Given the description of an element on the screen output the (x, y) to click on. 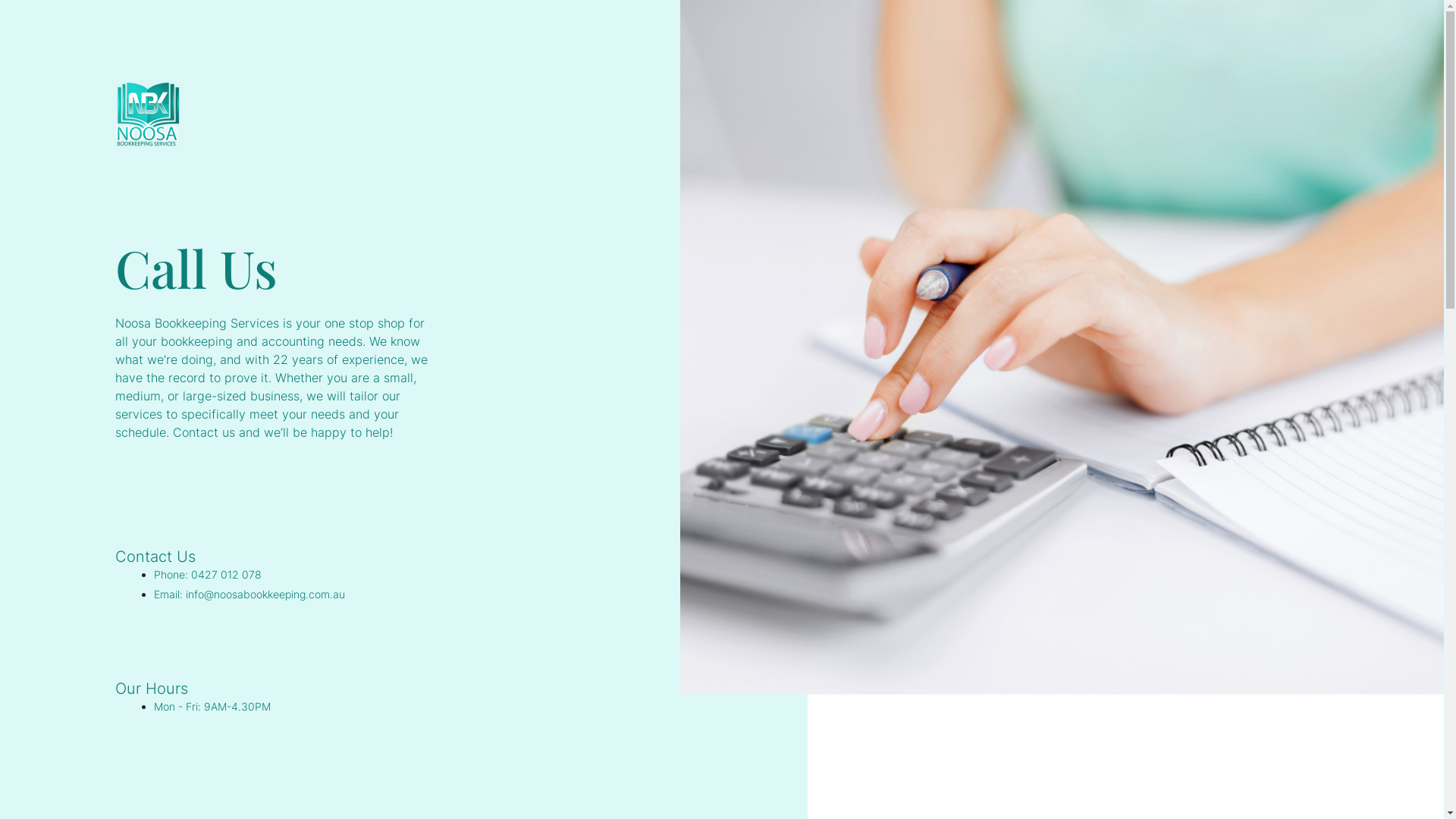
Email: info@noosabookkeeping.com.au Element type: text (249, 593)
Noosa-Bookkeeping-Services-copy Element type: hover (149, 114)
Phone: 0427 012 078 Element type: text (207, 573)
